Given the description of an element on the screen output the (x, y) to click on. 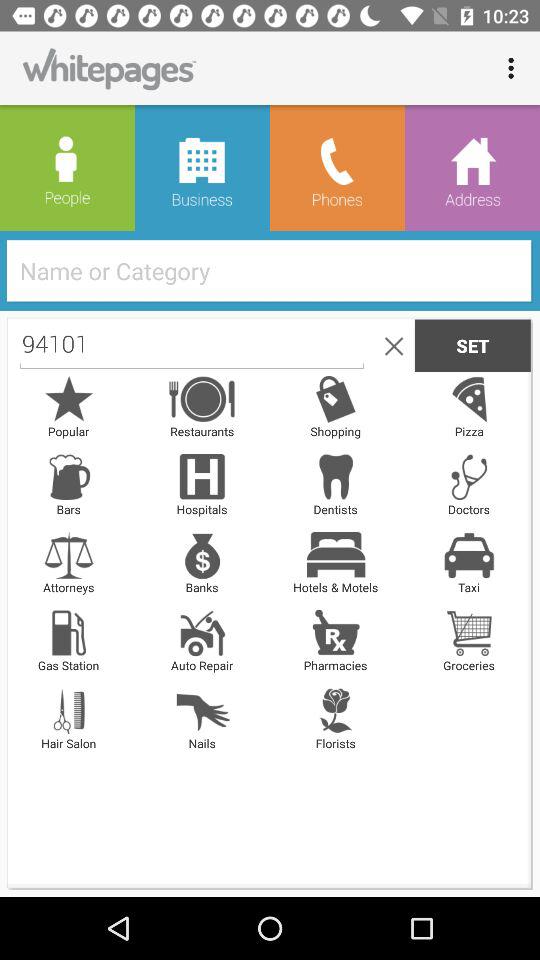
swipe until 94101 icon (191, 345)
